Given the description of an element on the screen output the (x, y) to click on. 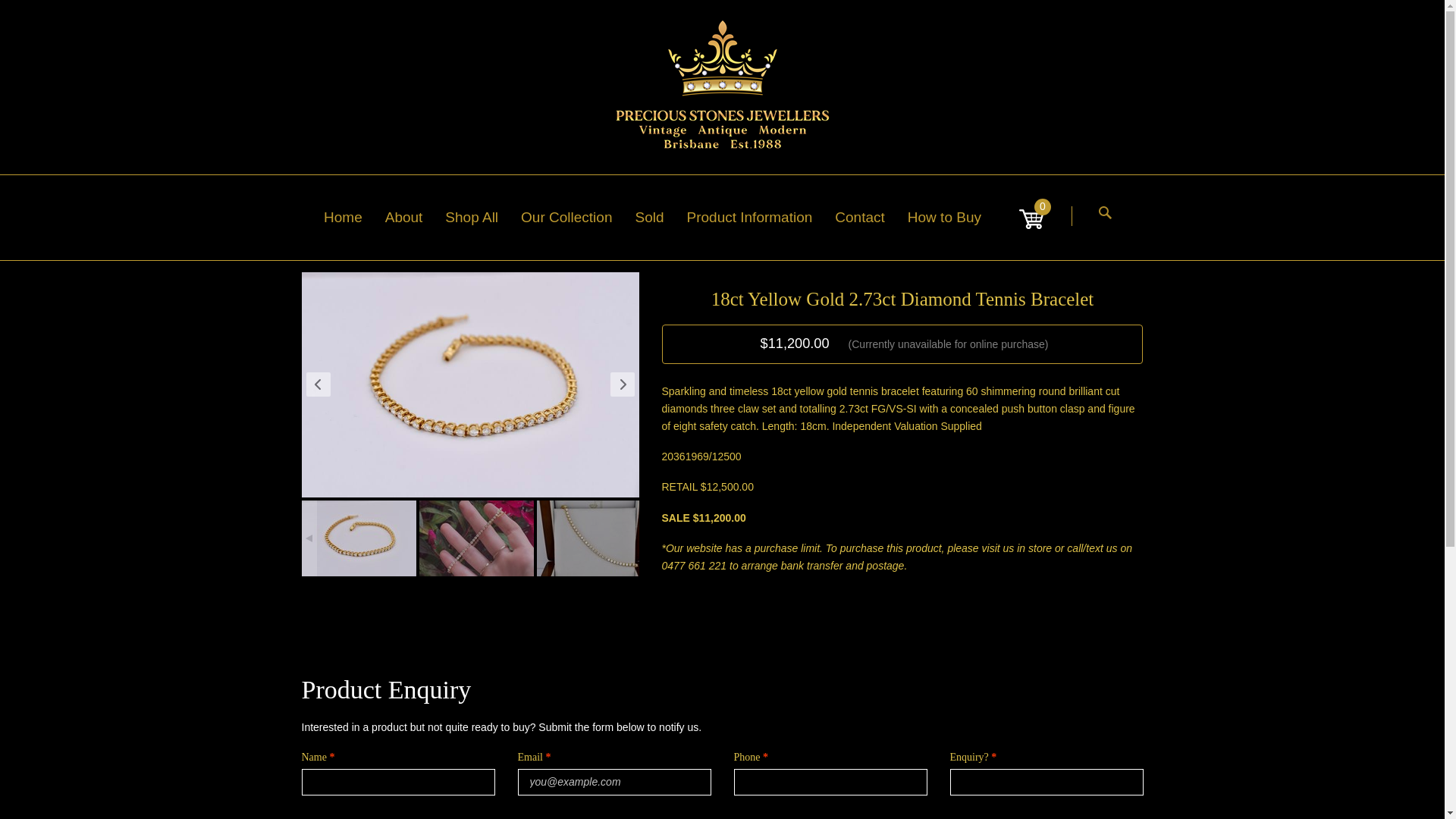
Contact (870, 217)
Shop All (483, 217)
How to Buy (955, 217)
About (415, 217)
Product Information (761, 217)
Home (354, 217)
Our Collection (577, 217)
Sold (659, 217)
